Given the description of an element on the screen output the (x, y) to click on. 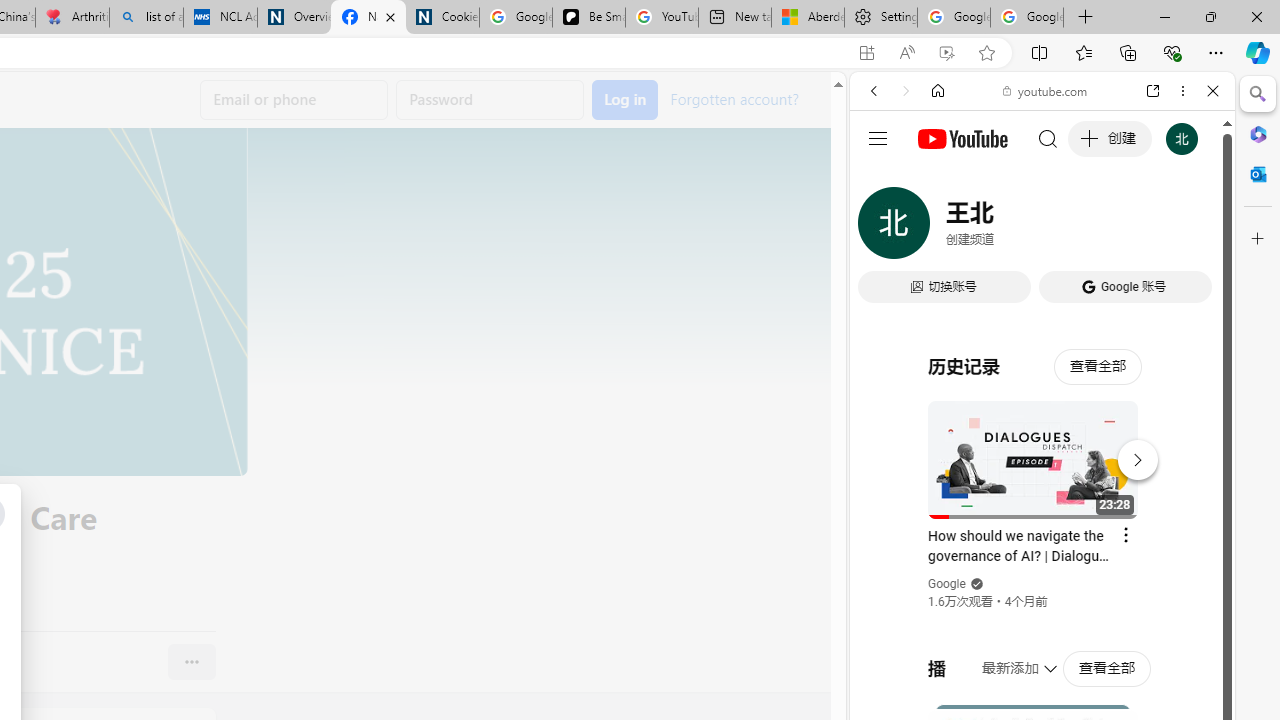
NCL Adult Asthma Inhaler Choice Guideline (220, 17)
Music (1042, 543)
Open link in new tab (1153, 91)
YouTube (1034, 296)
#you (1042, 445)
Preferences (1189, 228)
Web scope (882, 180)
Cookies (441, 17)
